Given the description of an element on the screen output the (x, y) to click on. 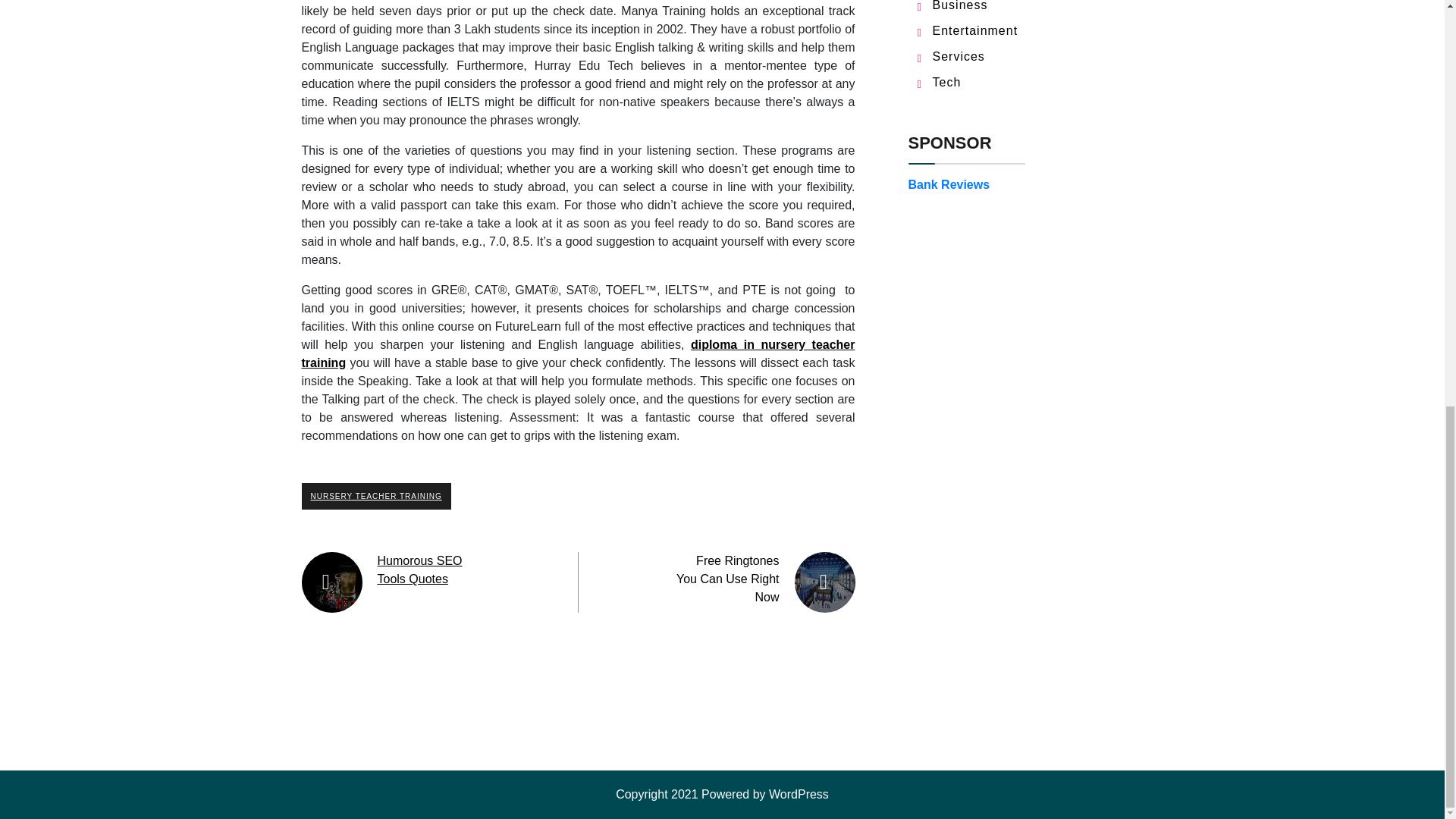
Humorous SEO Tools Quotes (420, 569)
Services (959, 56)
Entertainment (975, 30)
diploma in nursery teacher training (578, 353)
NURSERY TEACHER TRAINING (376, 496)
Business (960, 5)
Bank Reviews (949, 184)
Free Ringtones You Can Use Right Now (727, 578)
Tech (946, 82)
